Given the description of an element on the screen output the (x, y) to click on. 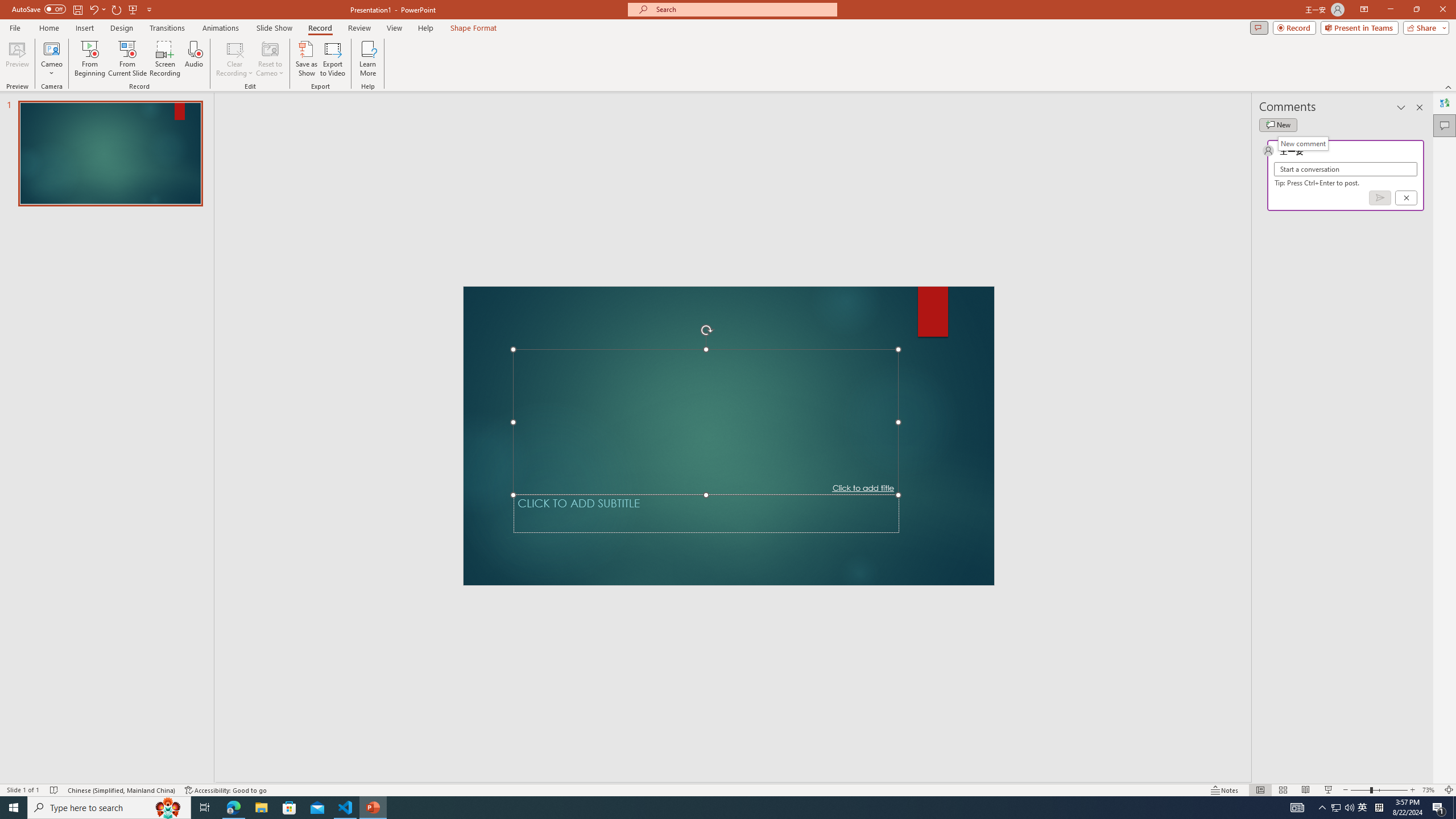
New comment (1302, 143)
Zoom 73% (1430, 790)
